Given the description of an element on the screen output the (x, y) to click on. 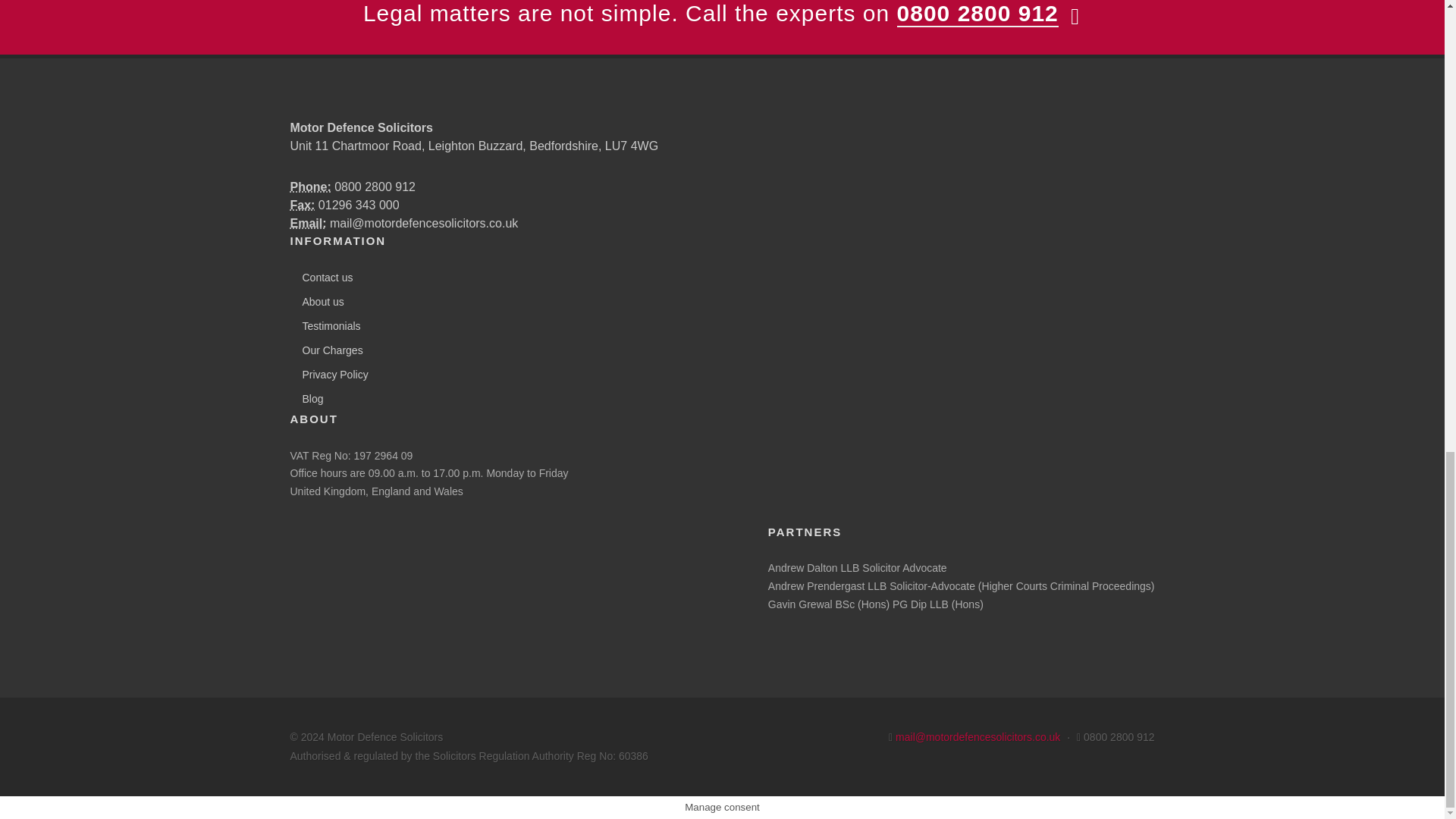
Blog (308, 399)
Testimonials (327, 326)
Privacy Policy (330, 374)
Fax (301, 205)
Email Address (307, 223)
Contact us (323, 277)
Our Charges (328, 350)
Phone Number (309, 186)
About us (319, 302)
